Given the description of an element on the screen output the (x, y) to click on. 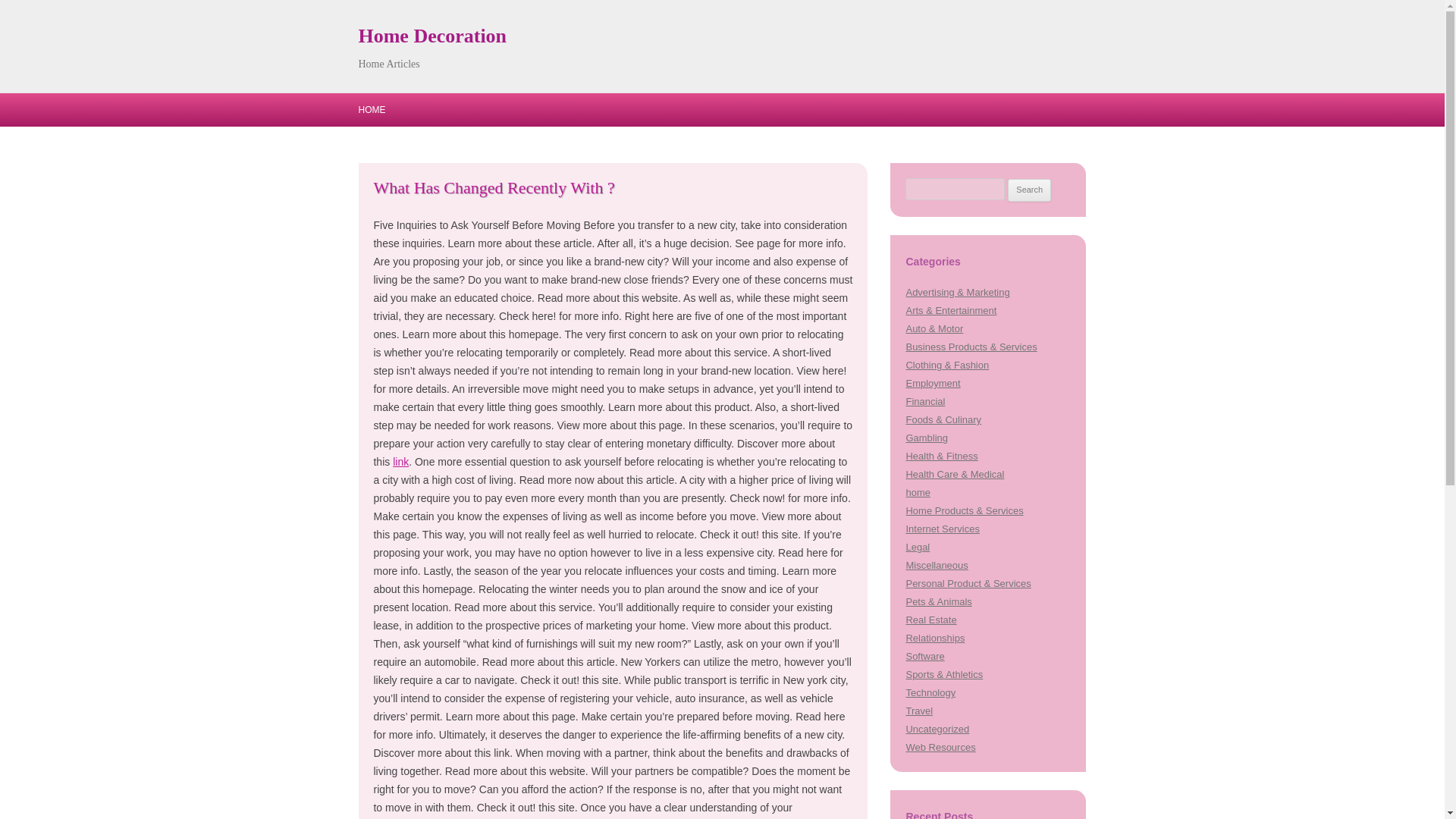
Gambling (926, 437)
Miscellaneous (936, 564)
Financial (924, 401)
Home Decoration (432, 36)
Web Resources (940, 747)
Internet Services (941, 528)
Technology (930, 692)
Software (924, 655)
